Given the description of an element on the screen output the (x, y) to click on. 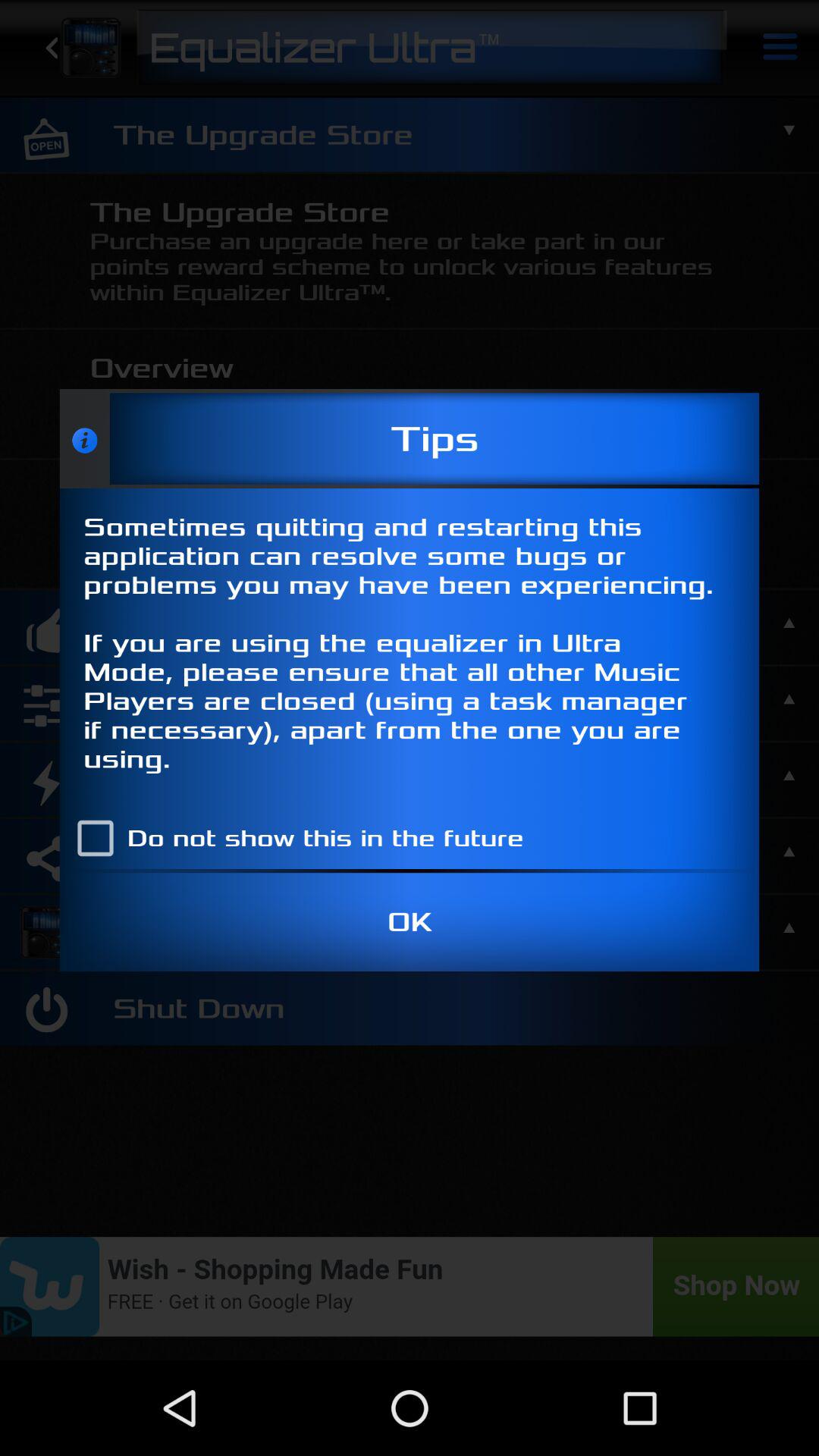
scroll to the ok icon (409, 922)
